Given the description of an element on the screen output the (x, y) to click on. 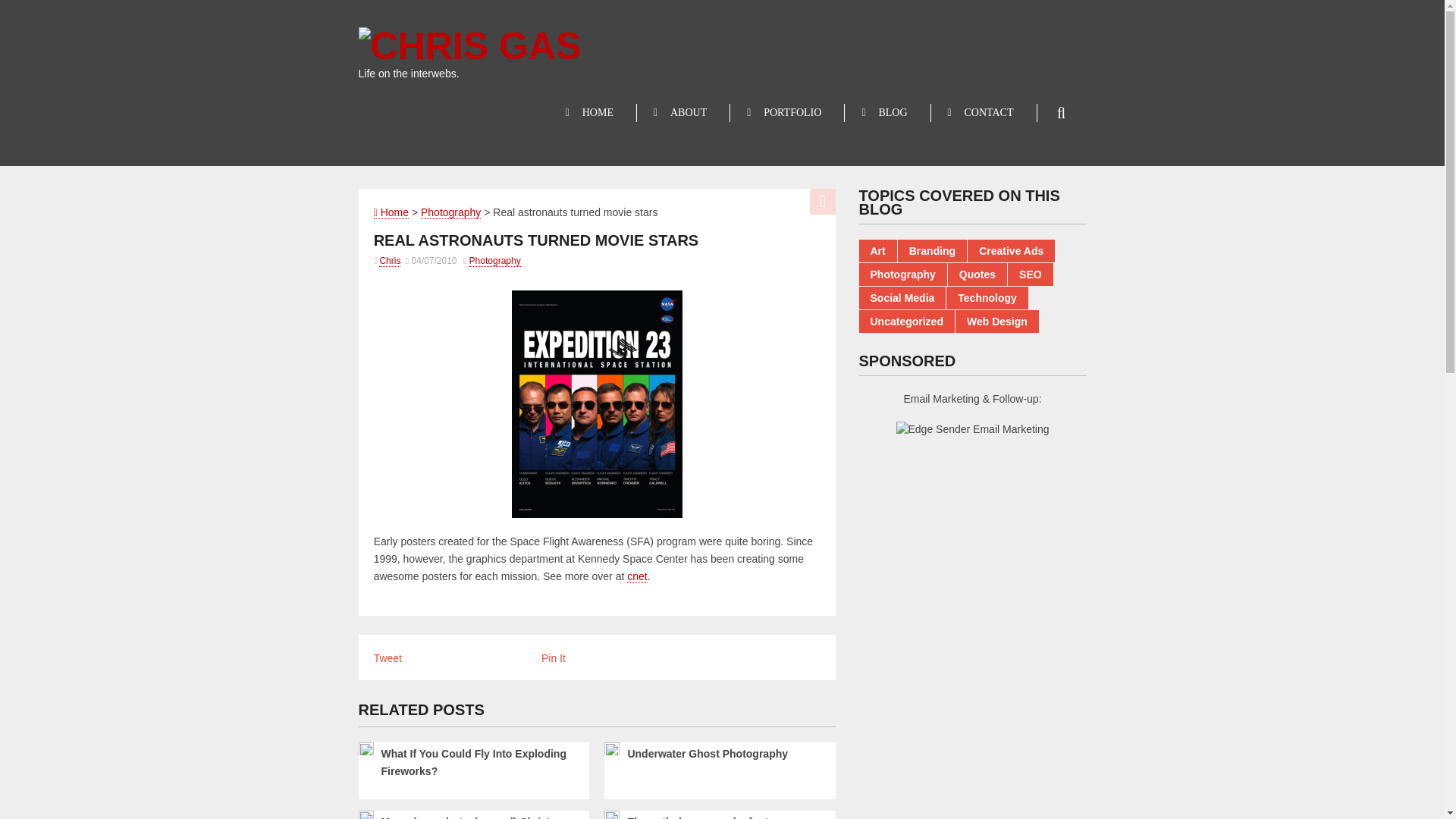
Branding (932, 250)
Art (877, 250)
The pothole as a work of art (717, 816)
Photography (494, 260)
The pothole as a work of art (717, 816)
Tweet (387, 657)
Quotes (977, 273)
ABOUT (682, 112)
SEO (1029, 273)
cnet (636, 576)
HOME (592, 112)
Photography (450, 212)
CONTACT (982, 112)
Pin It (553, 657)
Underwater Ghost Photography (717, 753)
